Given the description of an element on the screen output the (x, y) to click on. 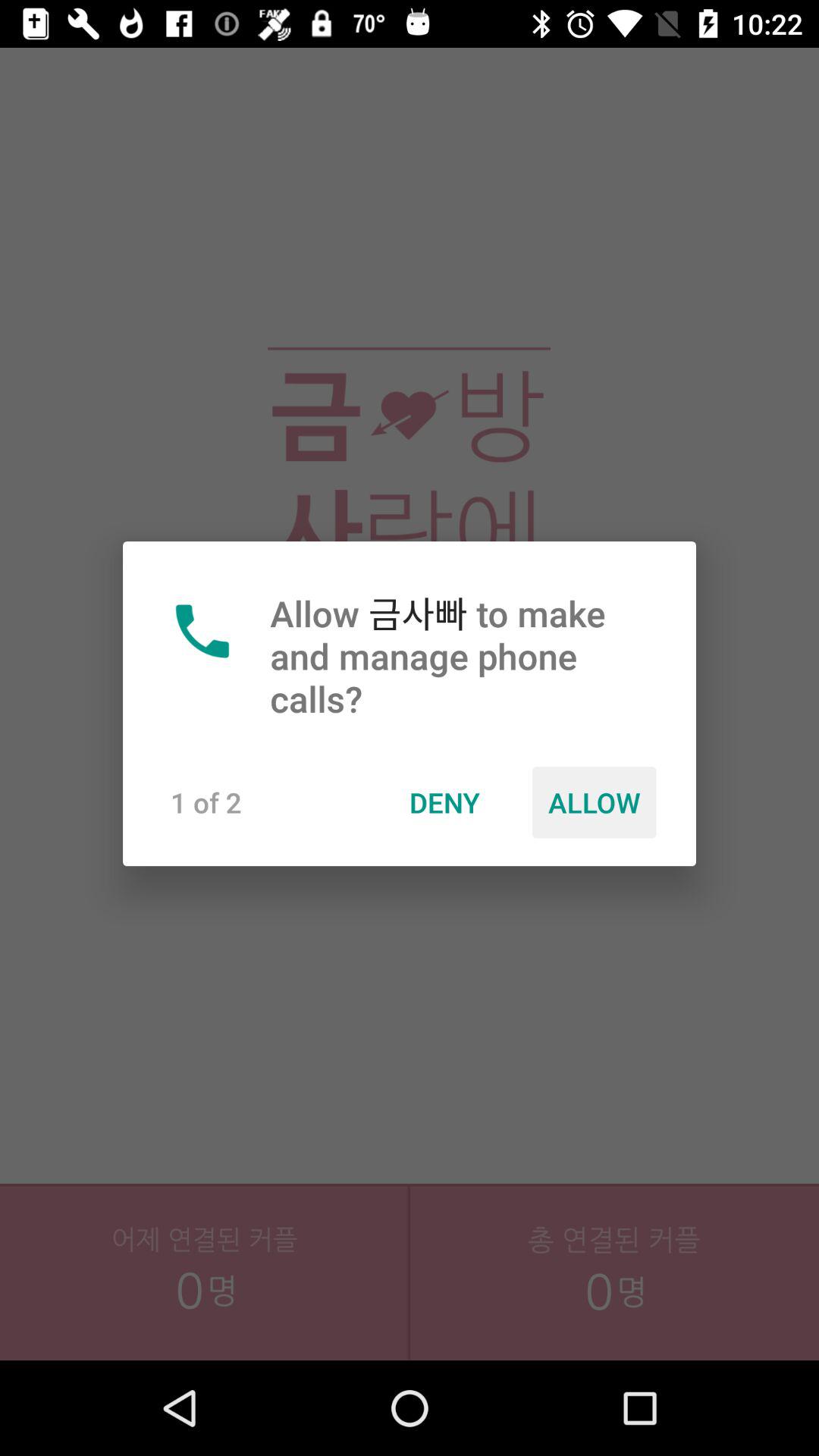
turn on the icon at the bottom right corner (614, 1305)
